Given the description of an element on the screen output the (x, y) to click on. 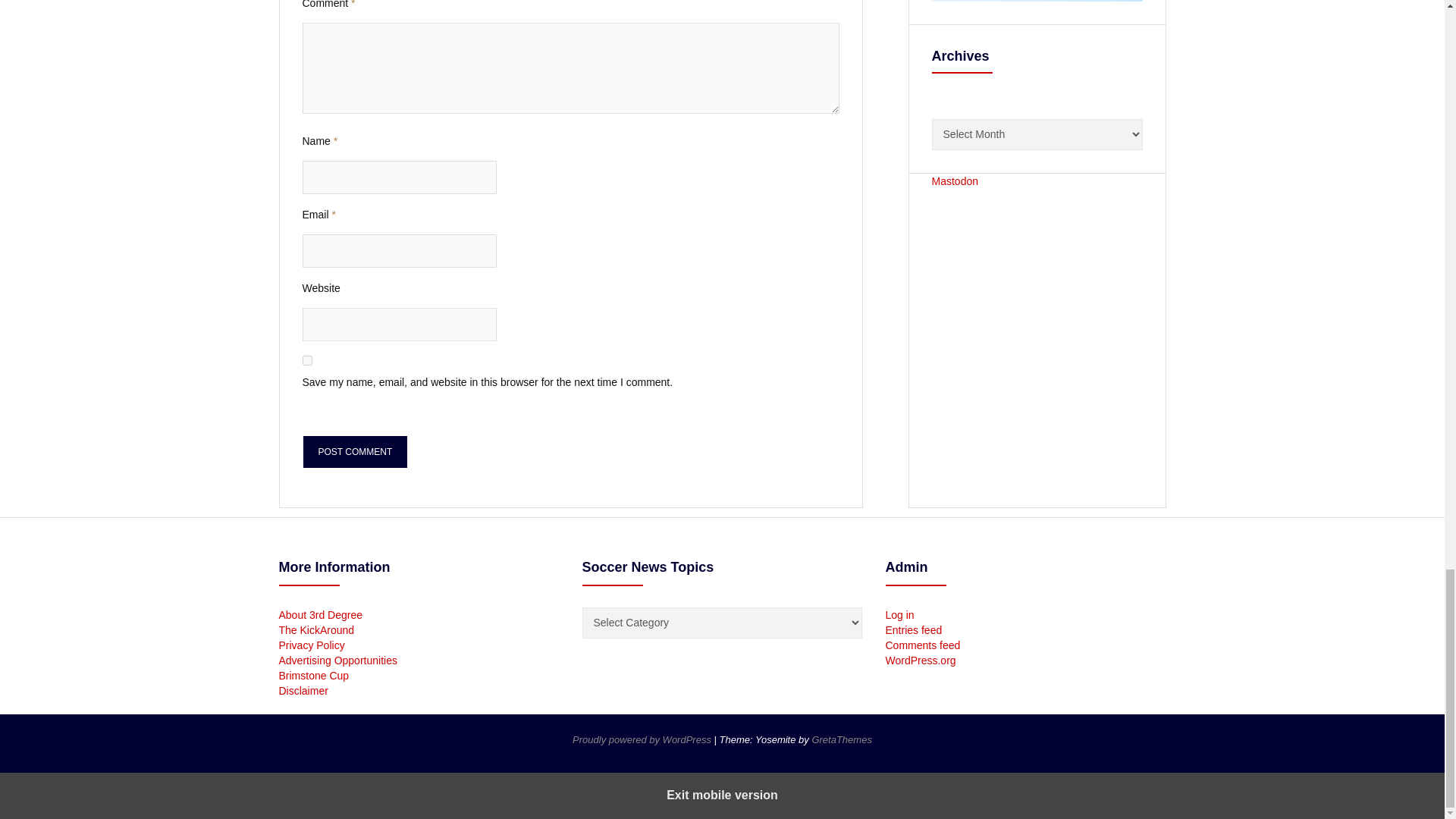
Post Comment (354, 451)
yes (306, 360)
Post Comment (354, 451)
